Given the description of an element on the screen output the (x, y) to click on. 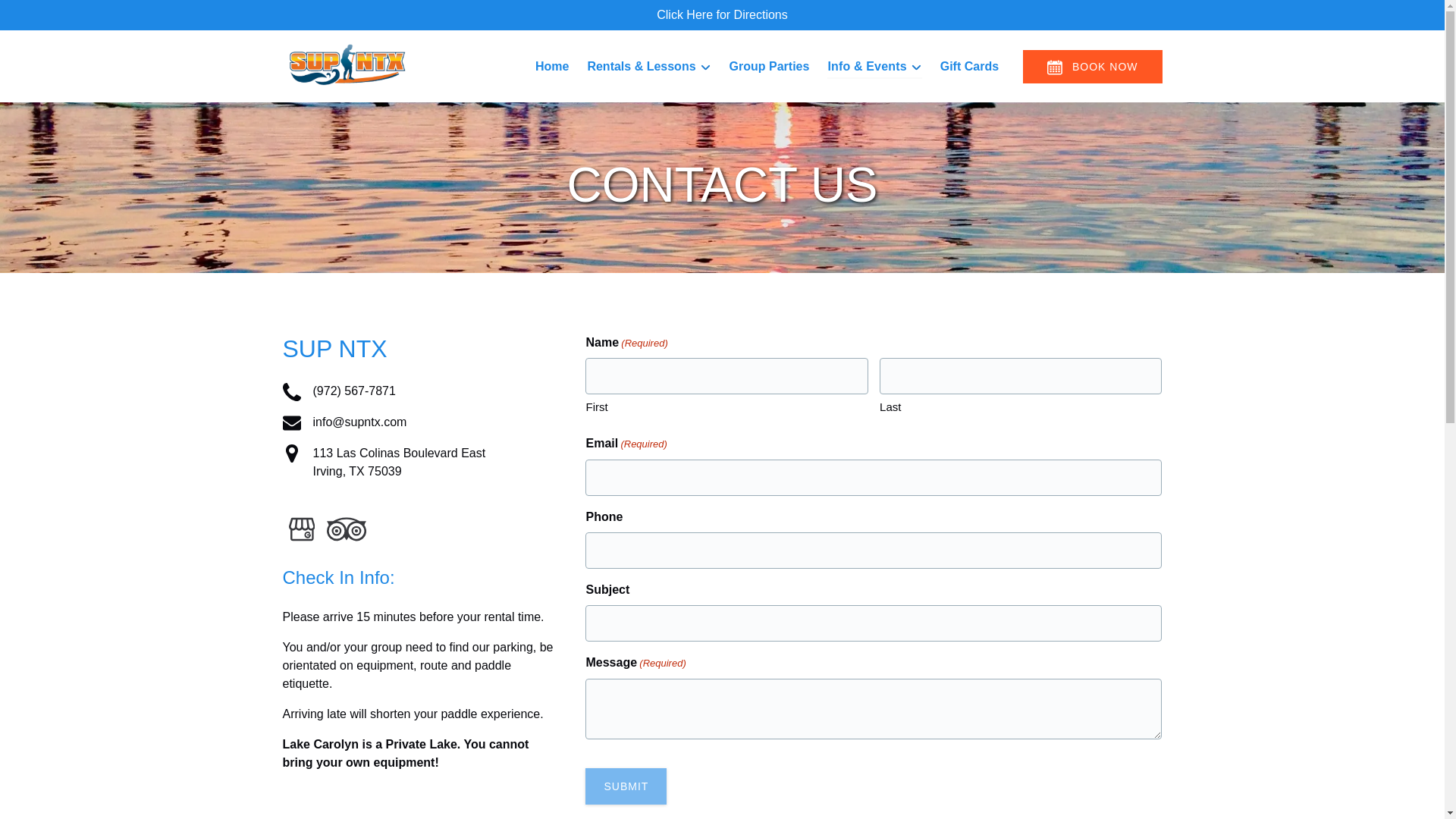
Home (418, 462)
Skip to primary navigation (551, 66)
Gift Cards (77, 16)
Skip to footer (969, 66)
Visit our Google My Business Profile (42, 16)
Map Marker (301, 528)
Skip to content (290, 453)
CALENDAR (47, 16)
CALENDAR BOOK NOW (1054, 67)
